Given the description of an element on the screen output the (x, y) to click on. 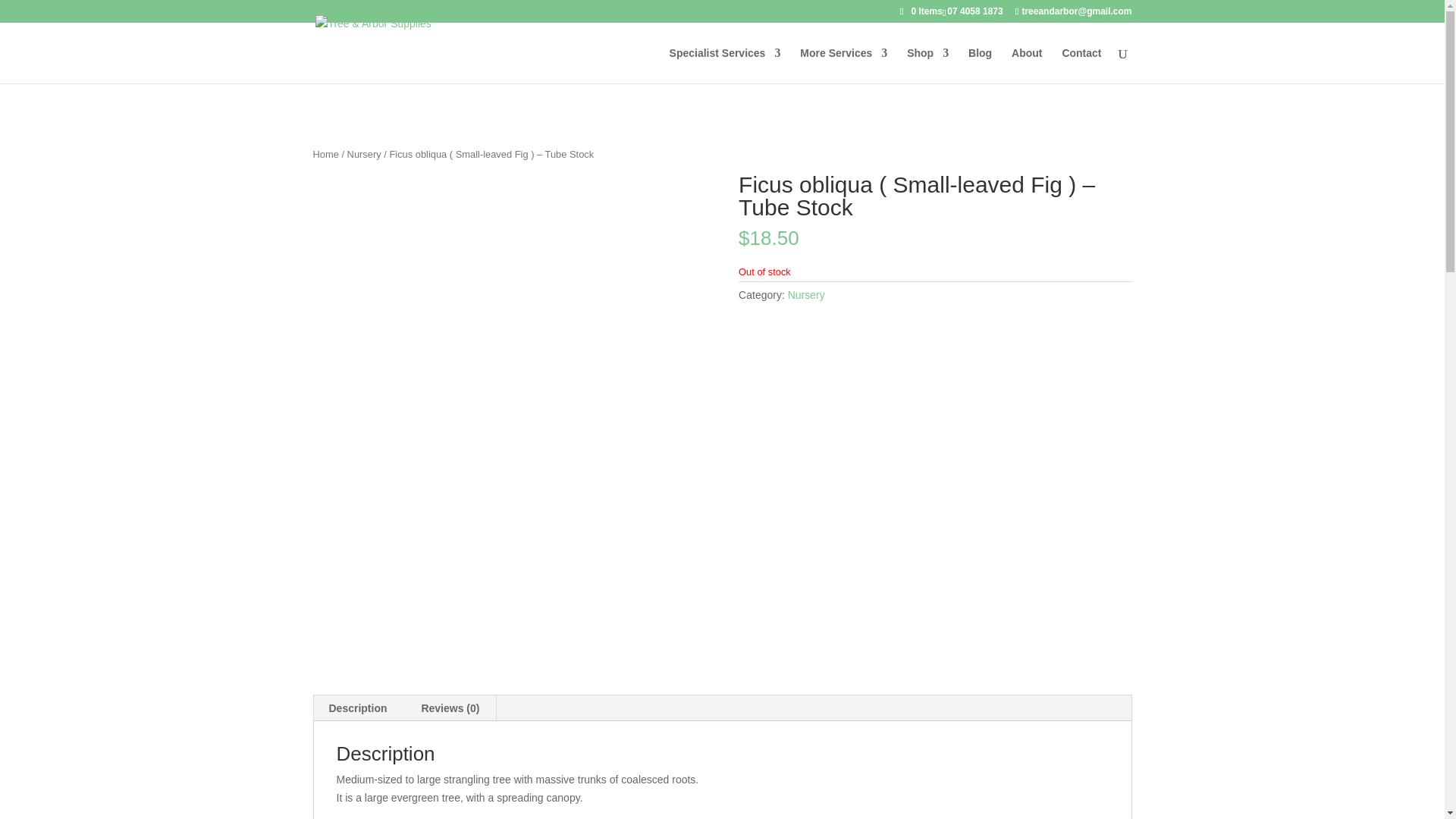
Shop (928, 65)
0 Items (920, 10)
Specialist Services (724, 65)
More Services (842, 65)
